Given the description of an element on the screen output the (x, y) to click on. 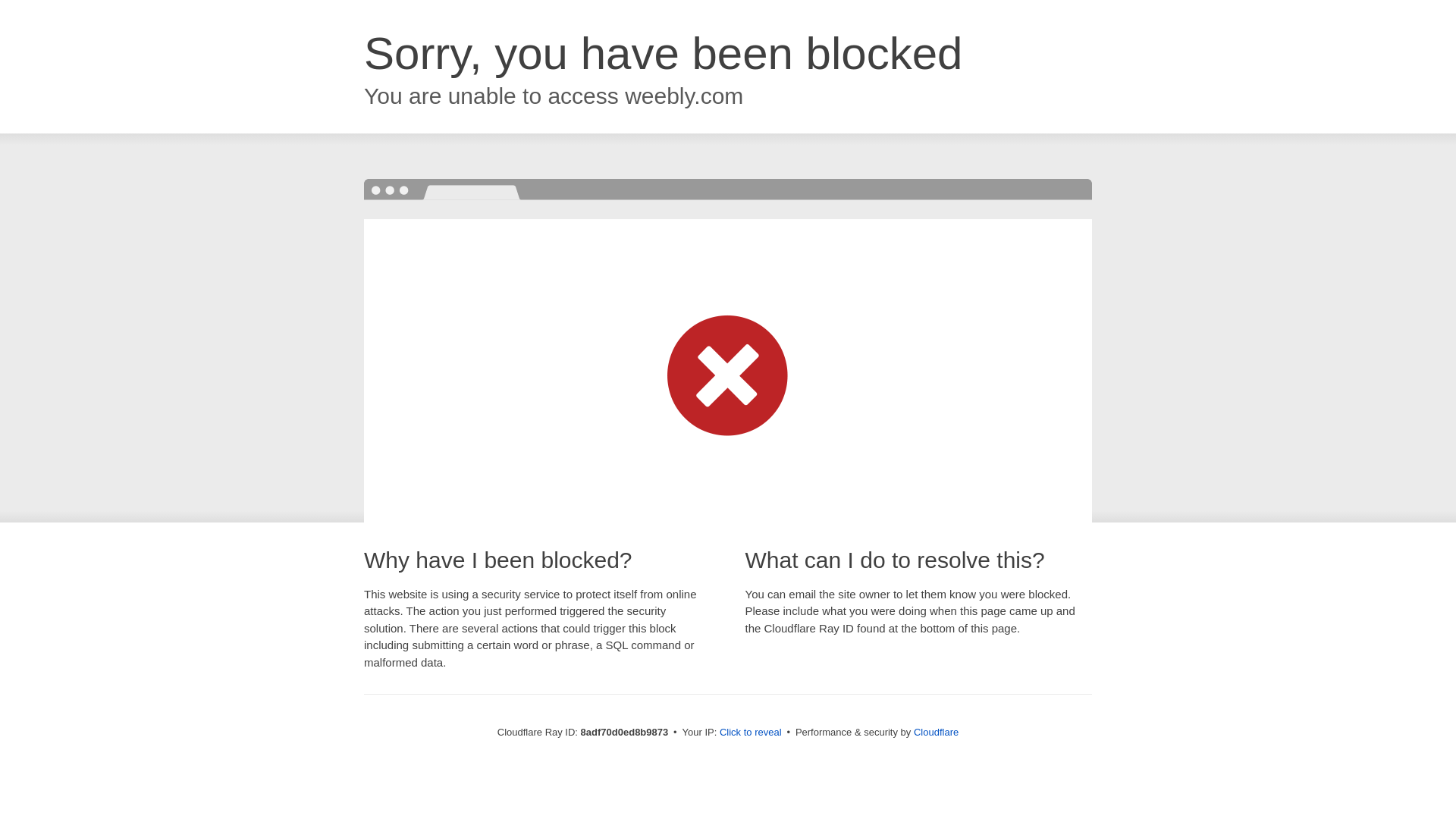
Cloudflare (936, 731)
Click to reveal (750, 732)
